Given the description of an element on the screen output the (x, y) to click on. 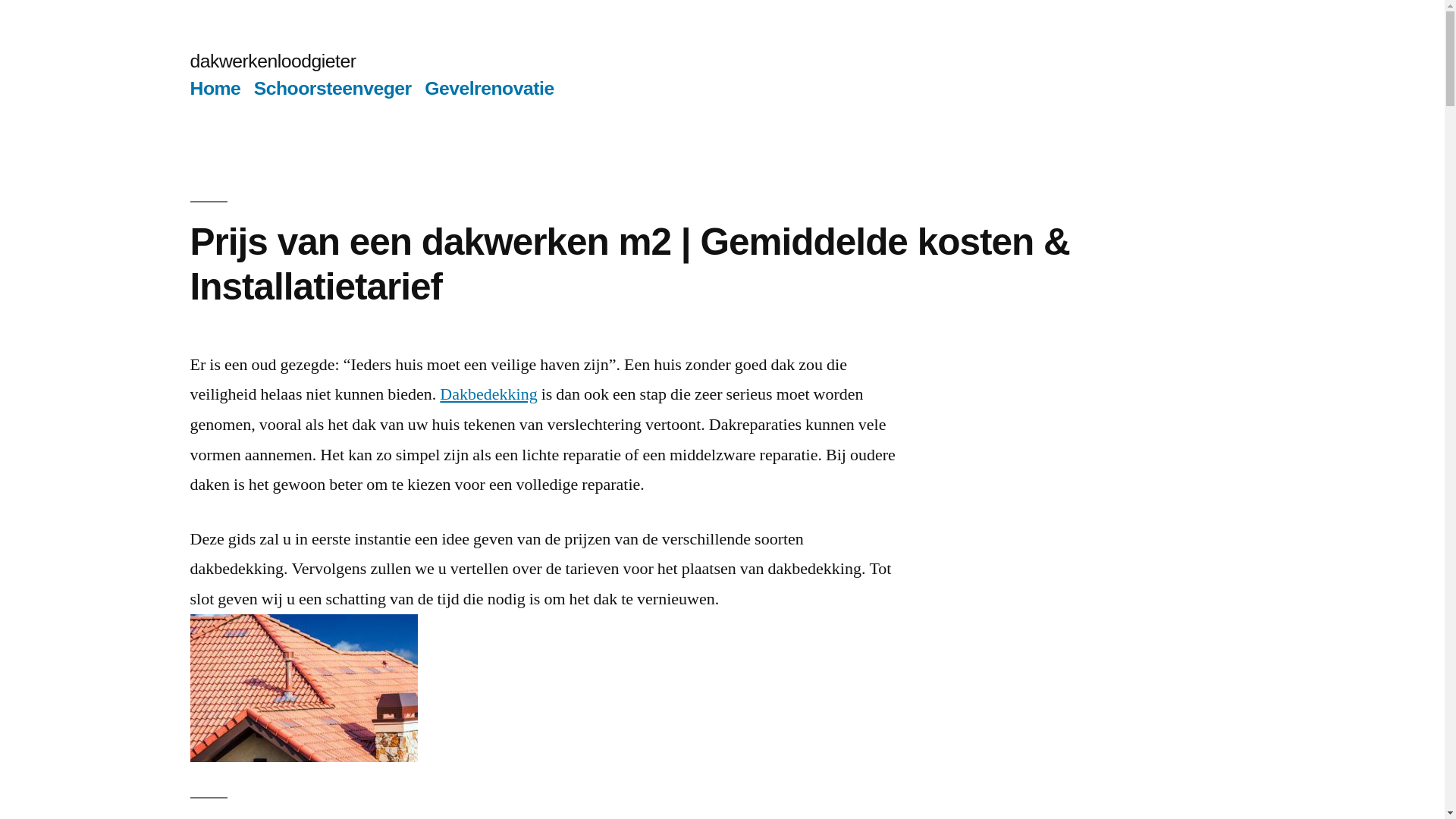
Dakbedekking Element type: text (487, 393)
Home Element type: text (214, 88)
dakwerkenloodgieter Element type: text (272, 60)
Gevelrenovatie Element type: text (489, 88)
Schoorsteenveger Element type: text (332, 88)
